Given the description of an element on the screen output the (x, y) to click on. 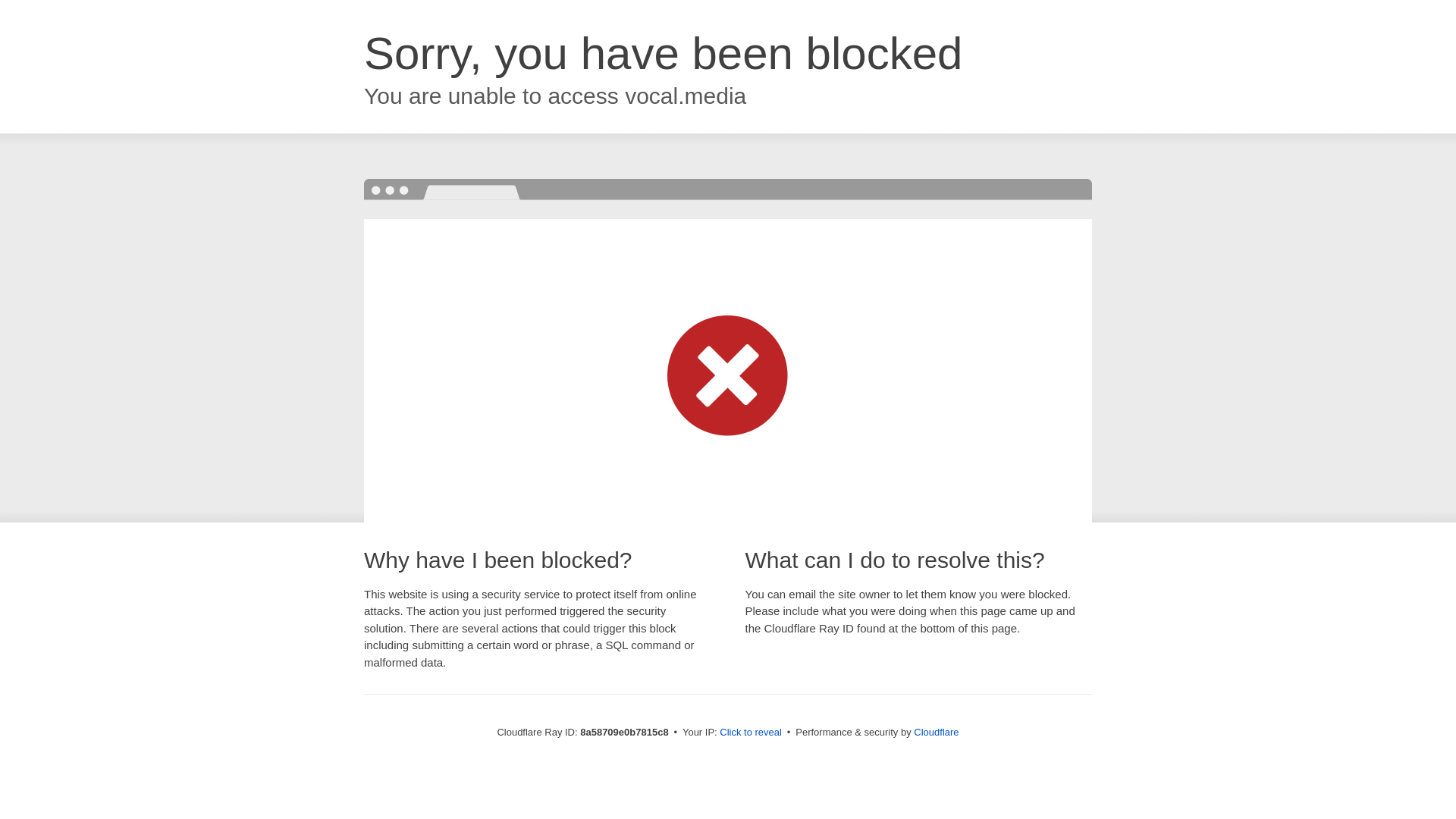
Click to reveal (750, 732)
Cloudflare (936, 731)
